Given the description of an element on the screen output the (x, y) to click on. 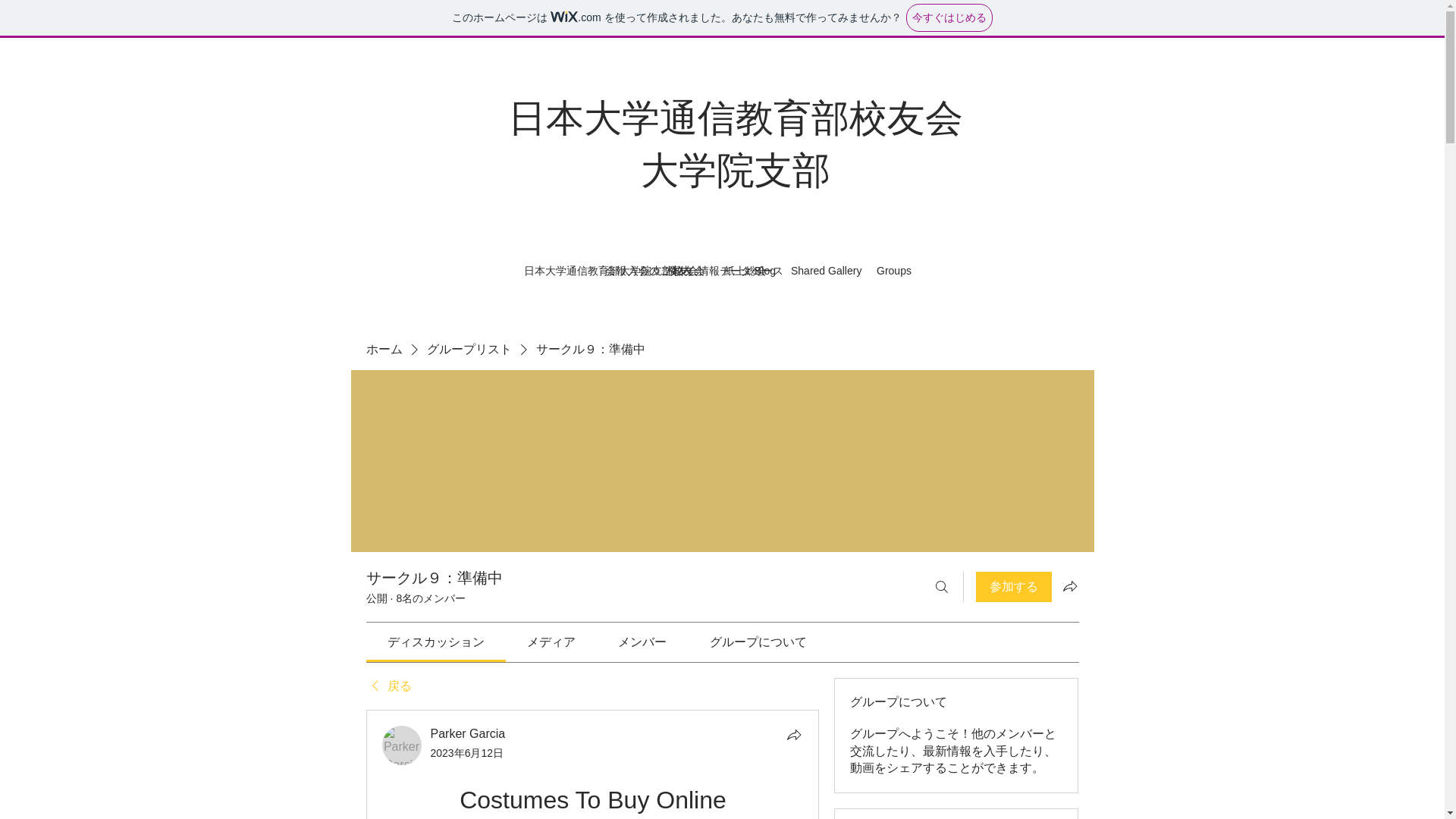
Groups (893, 270)
Blog (764, 270)
Parker Garcia (401, 744)
Shared Gallery (826, 270)
